Given the description of an element on the screen output the (x, y) to click on. 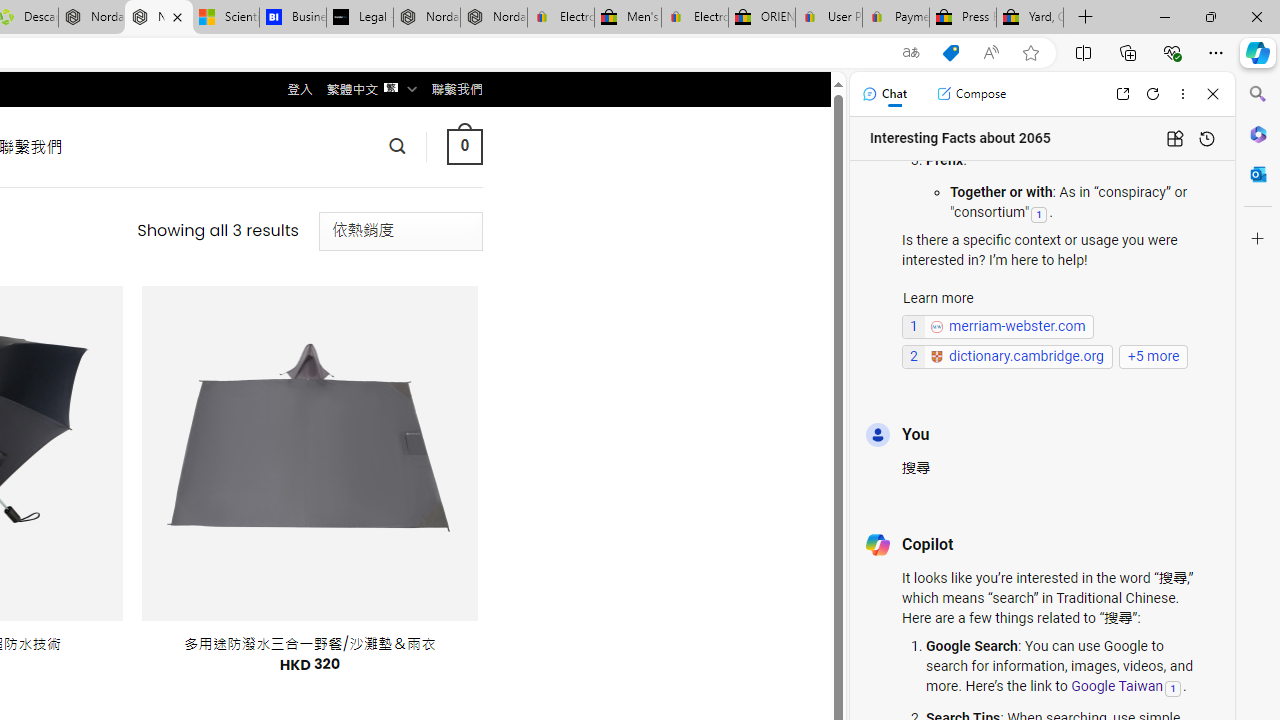
Compose (971, 93)
 0  (464, 146)
User Privacy Notice | eBay (828, 17)
Nordace - Summer Adventures 2024 (91, 17)
